Given the description of an element on the screen output the (x, y) to click on. 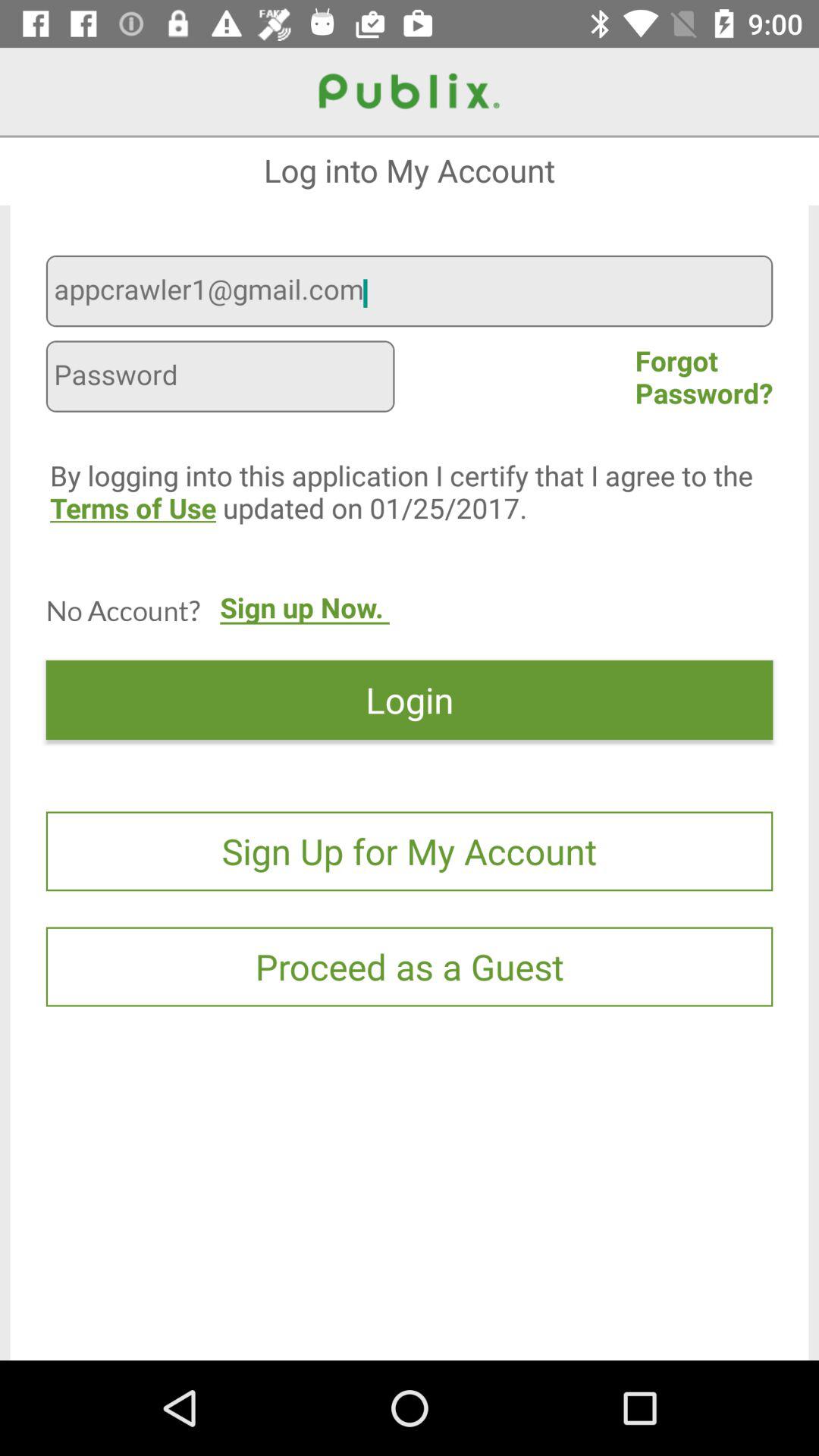
click item at the top left corner (220, 378)
